Given the description of an element on the screen output the (x, y) to click on. 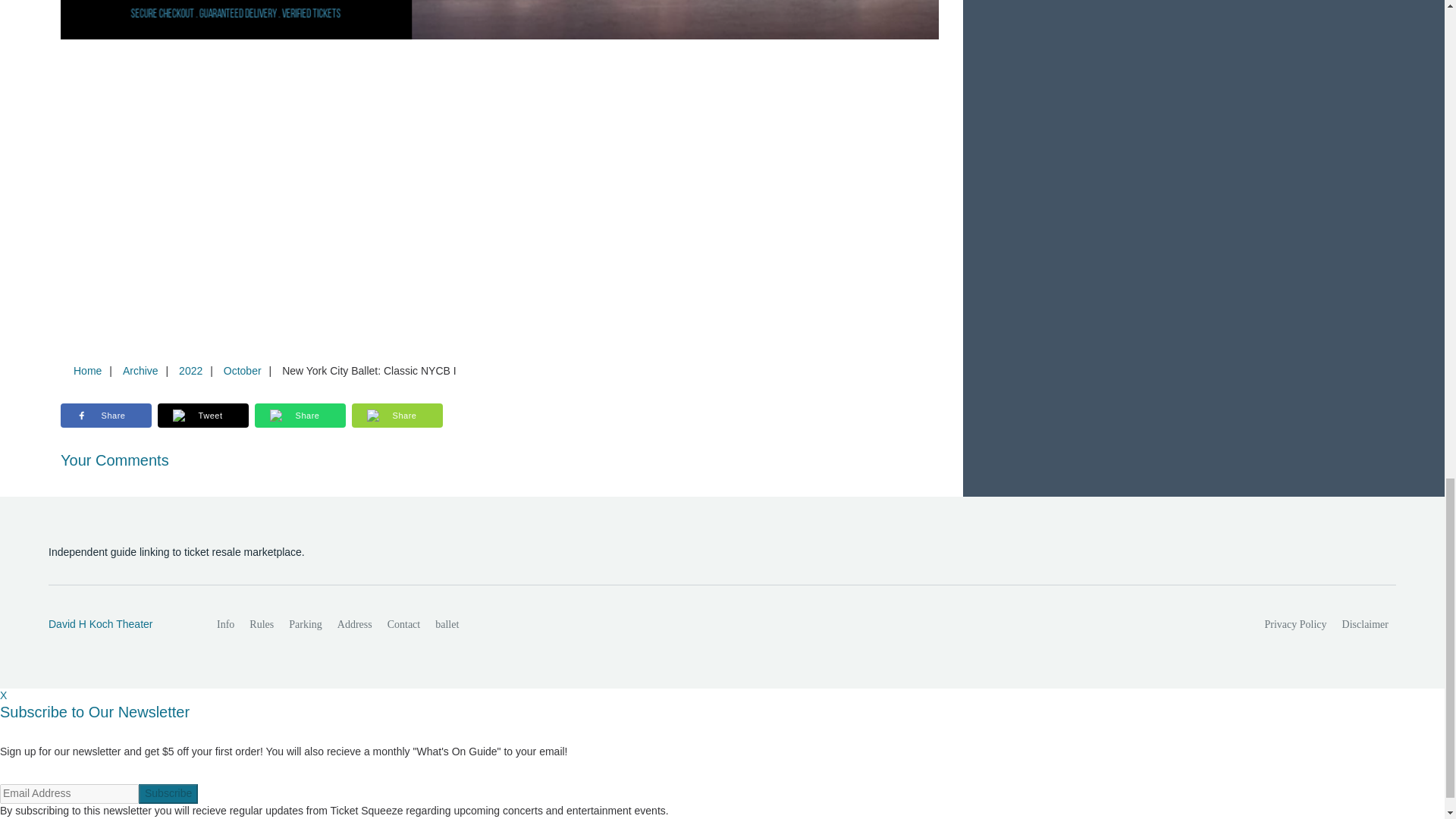
Archive (140, 370)
Address (355, 624)
October (242, 370)
David H Koch Theater (116, 624)
2022 (190, 370)
Parking (305, 624)
Disclaimer (1365, 624)
Contact (404, 624)
Privacy Policy (1296, 624)
Info (225, 624)
Subscribe (168, 793)
ballet (446, 624)
Rules (261, 624)
Home (87, 370)
